Given the description of an element on the screen output the (x, y) to click on. 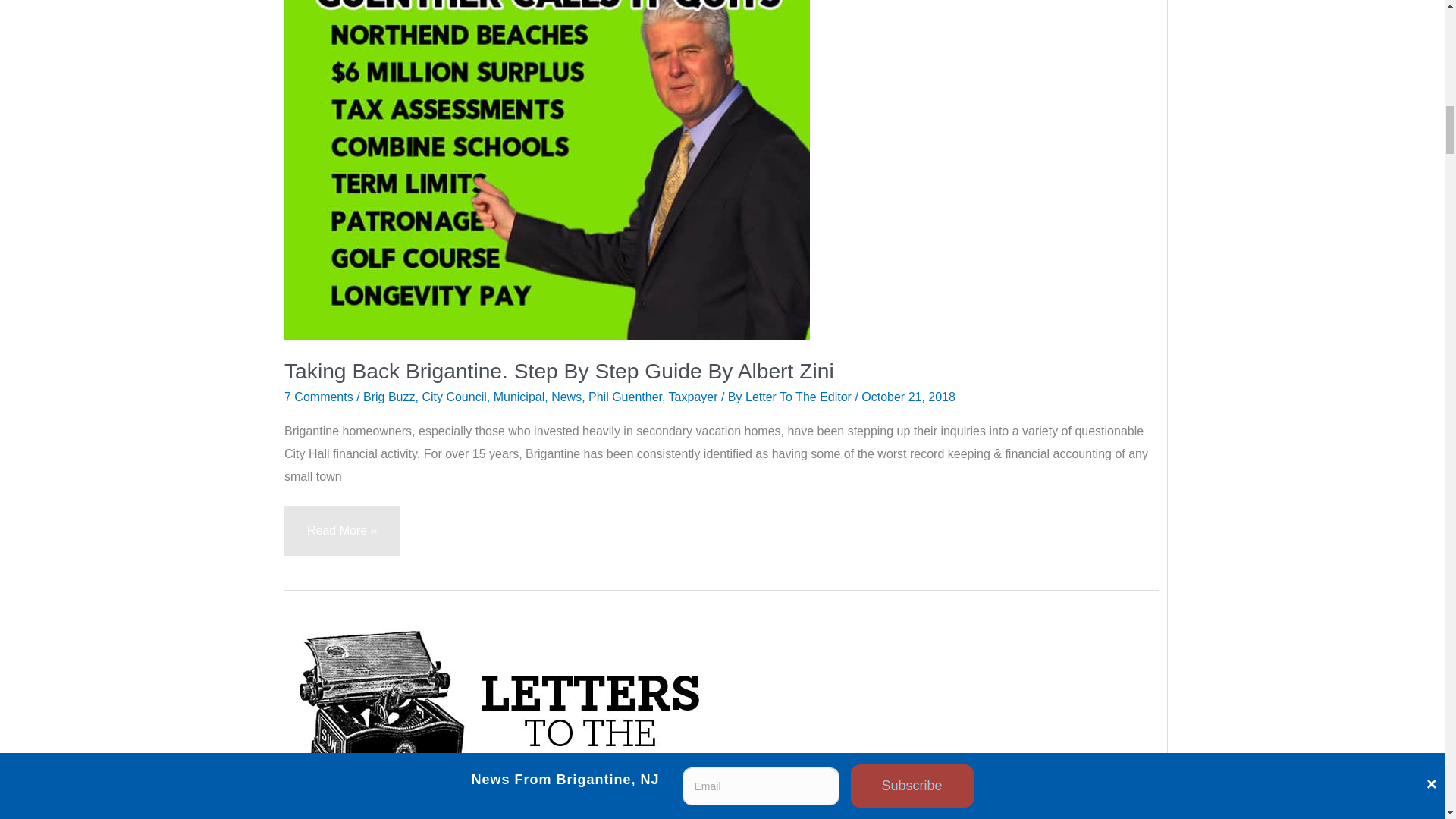
View all posts by Letter To The Editor (799, 396)
